Given the description of an element on the screen output the (x, y) to click on. 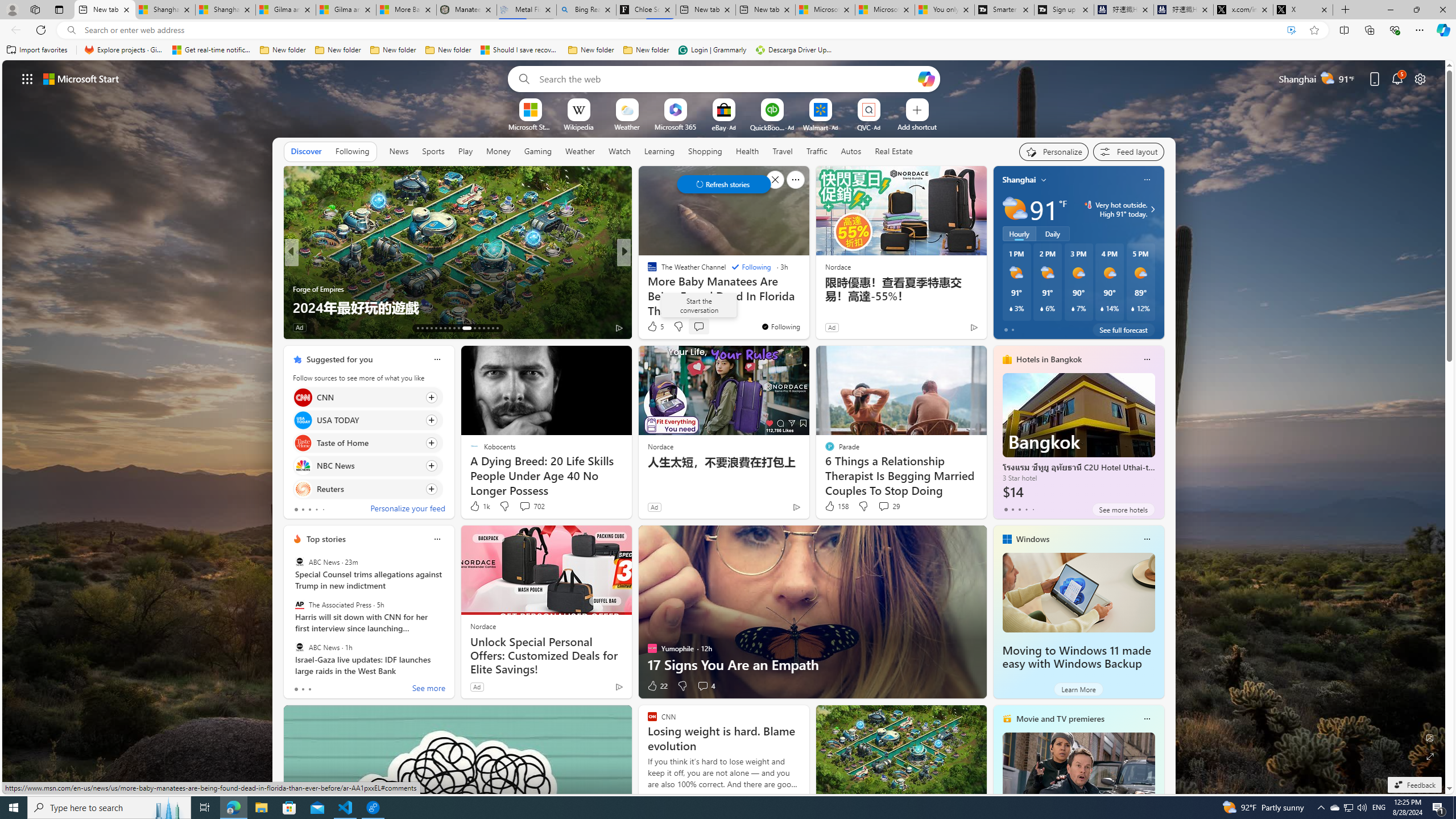
Daily (1052, 233)
Hide this story (597, 359)
Real Estate (893, 151)
Moving to Windows 11 made easy with Windows Backup (1076, 657)
Forge of Empires (317, 288)
View comments 19 Comment (703, 327)
Expand background (1430, 756)
